Given the description of an element on the screen output the (x, y) to click on. 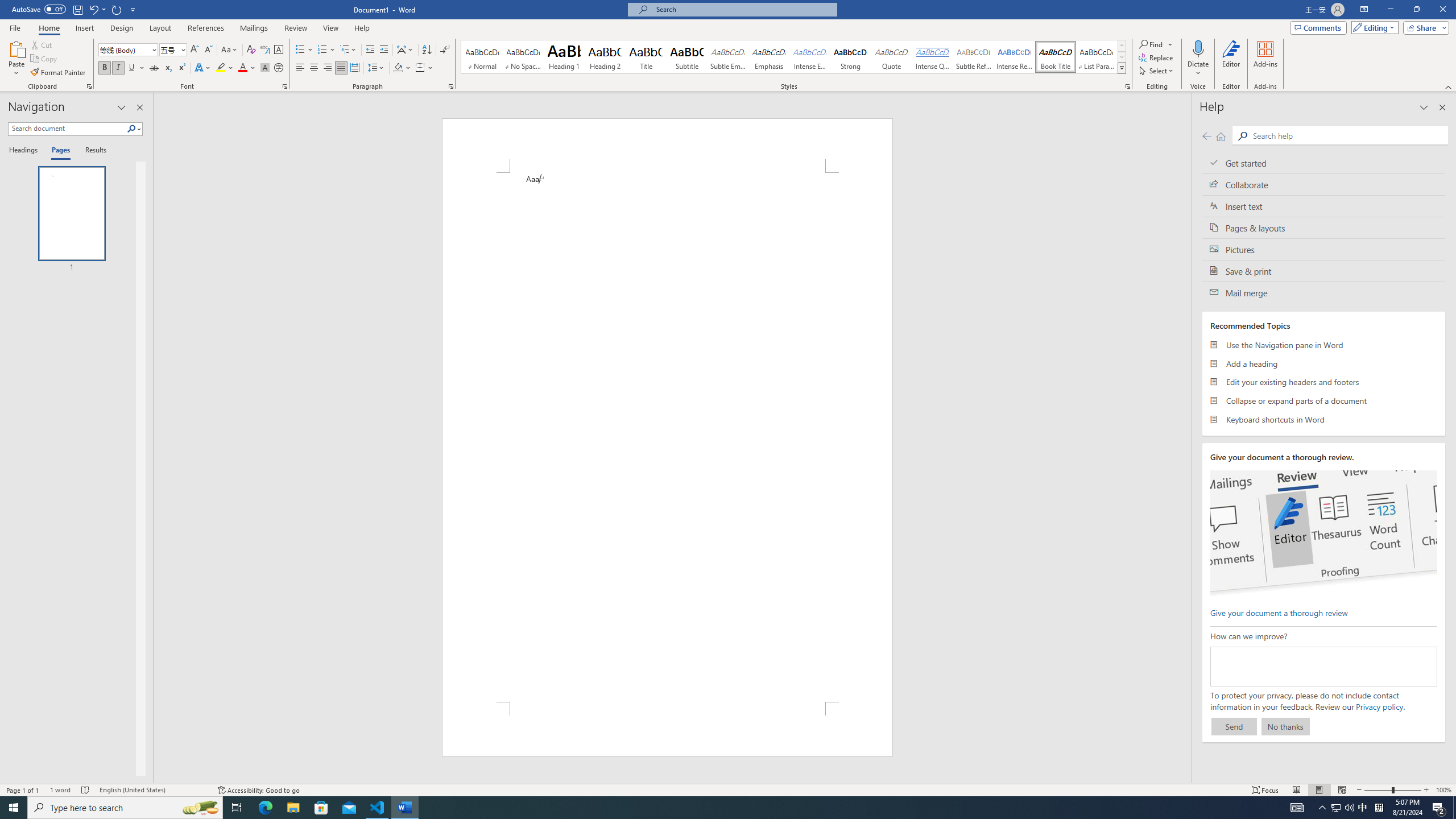
Book Title (1055, 56)
Add a heading (1323, 363)
Get started (1323, 162)
Collaborate (1323, 184)
